Given the description of an element on the screen output the (x, y) to click on. 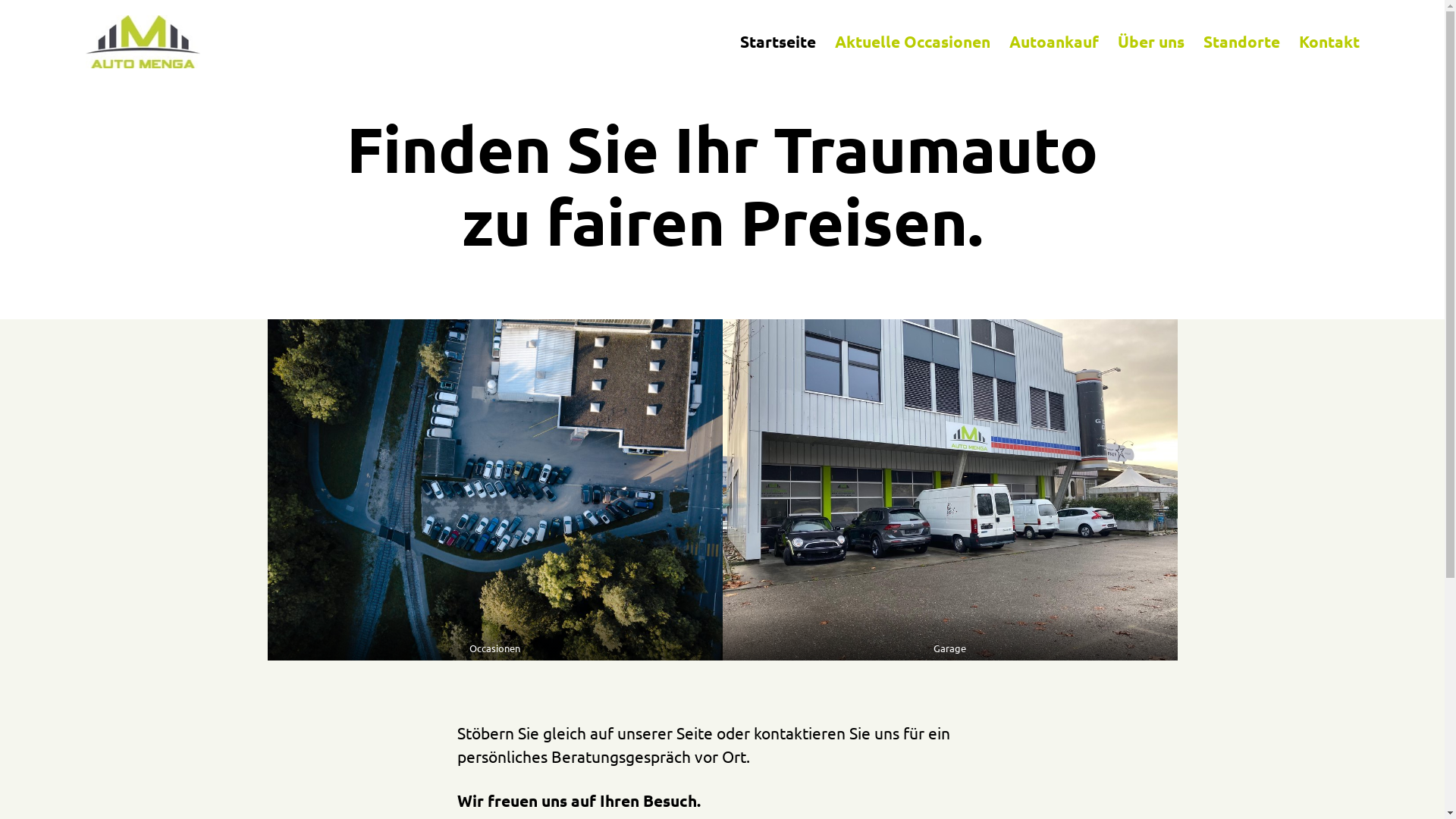
Standorte Element type: text (1240, 40)
Startseite Element type: text (777, 40)
Kontakt Element type: text (1328, 40)
Autoankauf Element type: text (1053, 40)
Aktuelle Occasionen Element type: text (911, 40)
